Given the description of an element on the screen output the (x, y) to click on. 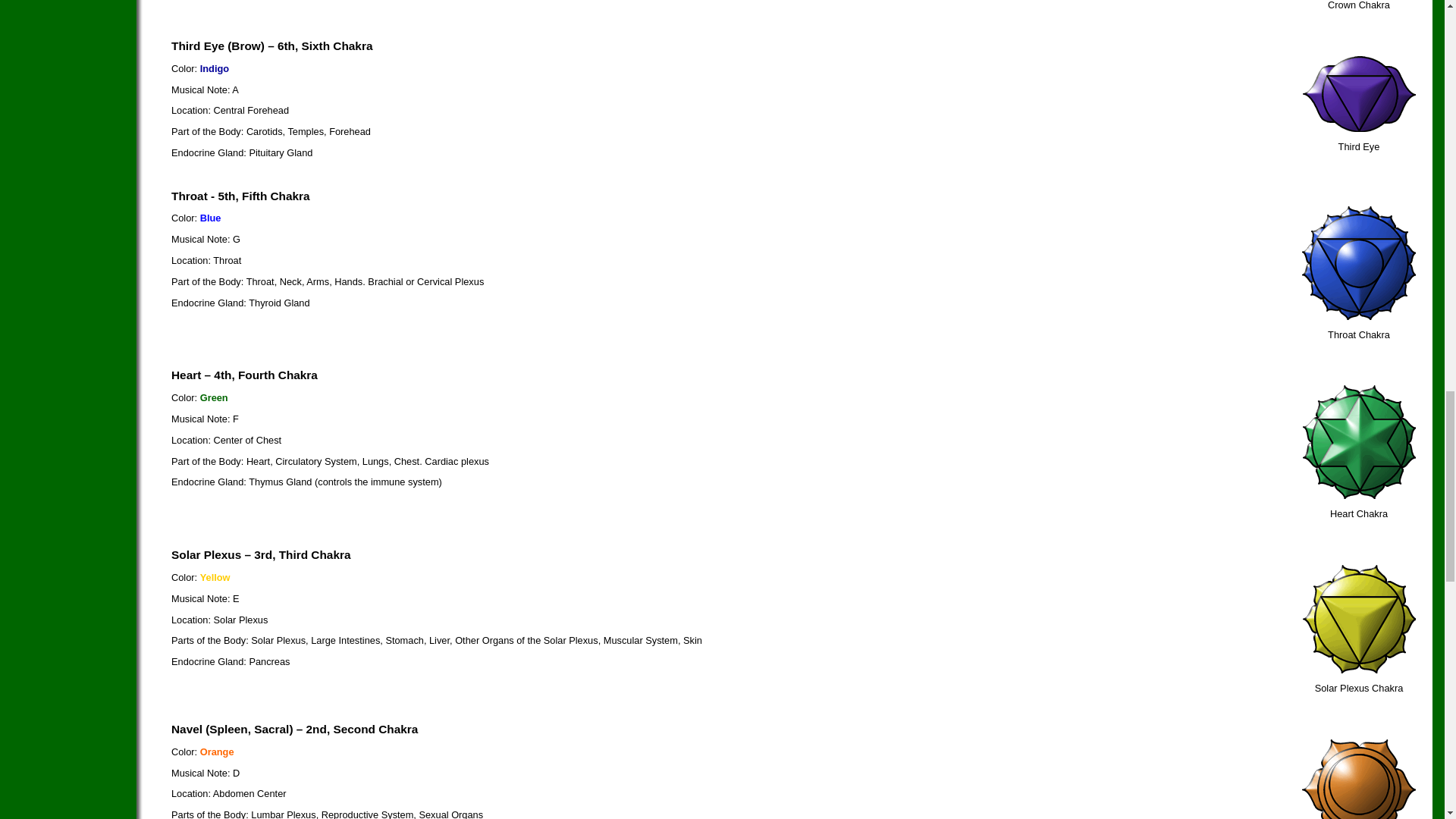
Solar-Plexus Chakra (1358, 669)
Heart Chakra (1358, 495)
Throat Chakra (1358, 316)
Third Eye Chakra (1358, 128)
